Given the description of an element on the screen output the (x, y) to click on. 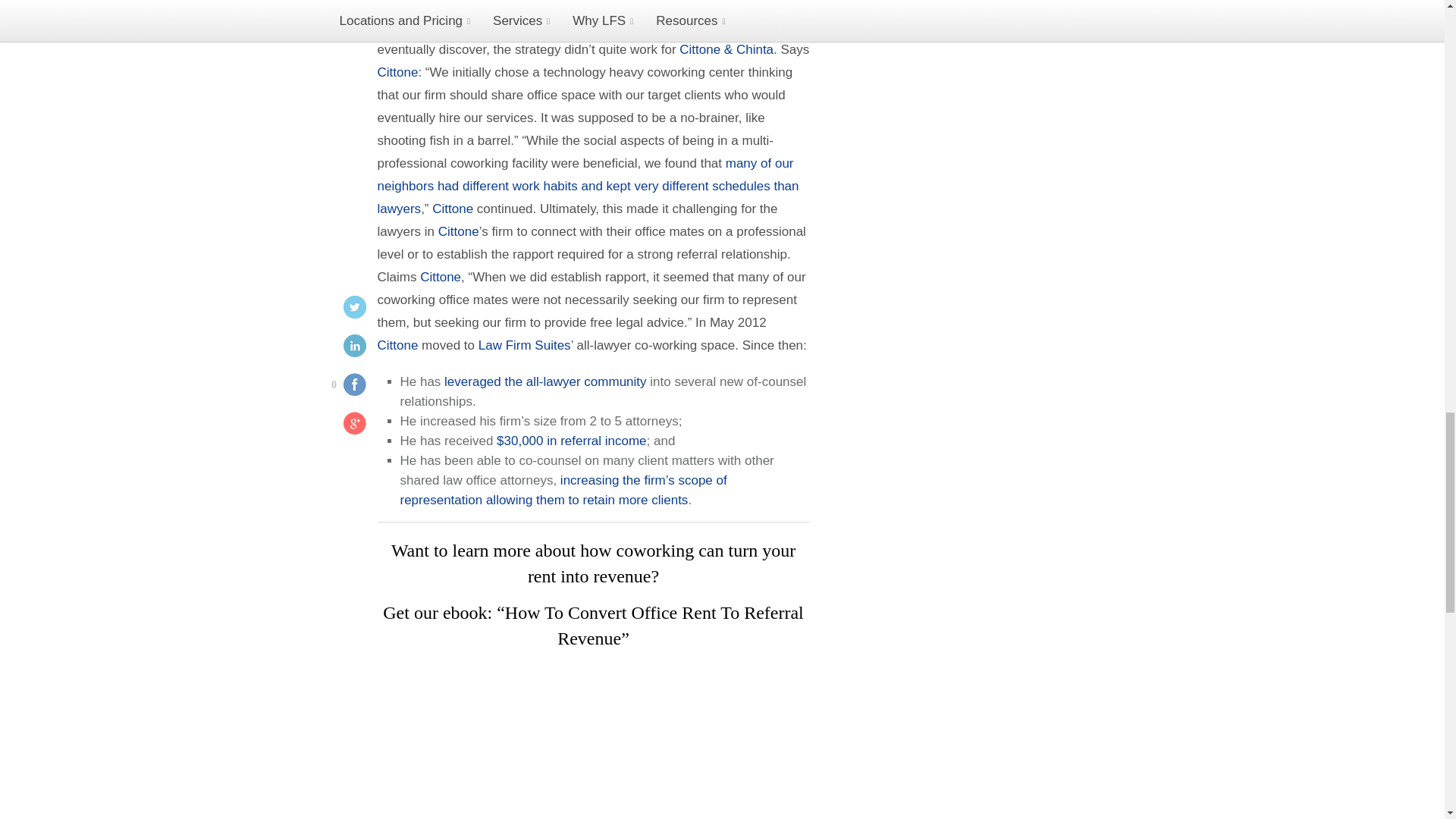
Henry J. Cittone (398, 72)
Henry J. Cittone (398, 5)
